Given the description of an element on the screen output the (x, y) to click on. 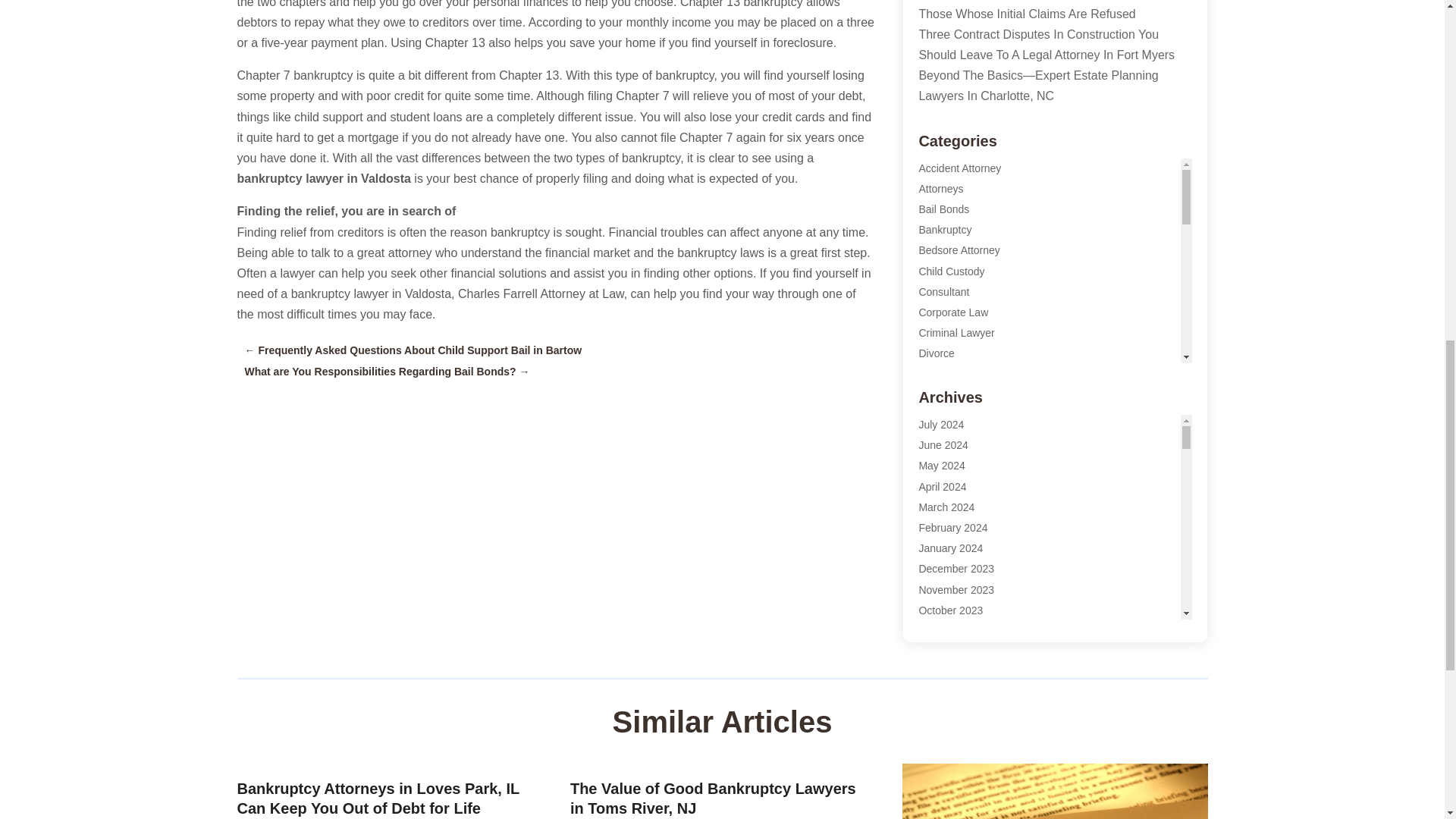
Accident Attorney (959, 168)
Bail Bonds (943, 209)
Estate Planning Lawyers (976, 374)
Family Lawyer (952, 415)
Bedsore Attorney (958, 250)
Bankruptcy (944, 229)
Law Attorney (948, 477)
Family Law Attorney (965, 395)
Child Custody (951, 271)
Law (927, 456)
Consultant (943, 291)
Law Firm (940, 498)
Criminal Lawyer (956, 332)
